Given the description of an element on the screen output the (x, y) to click on. 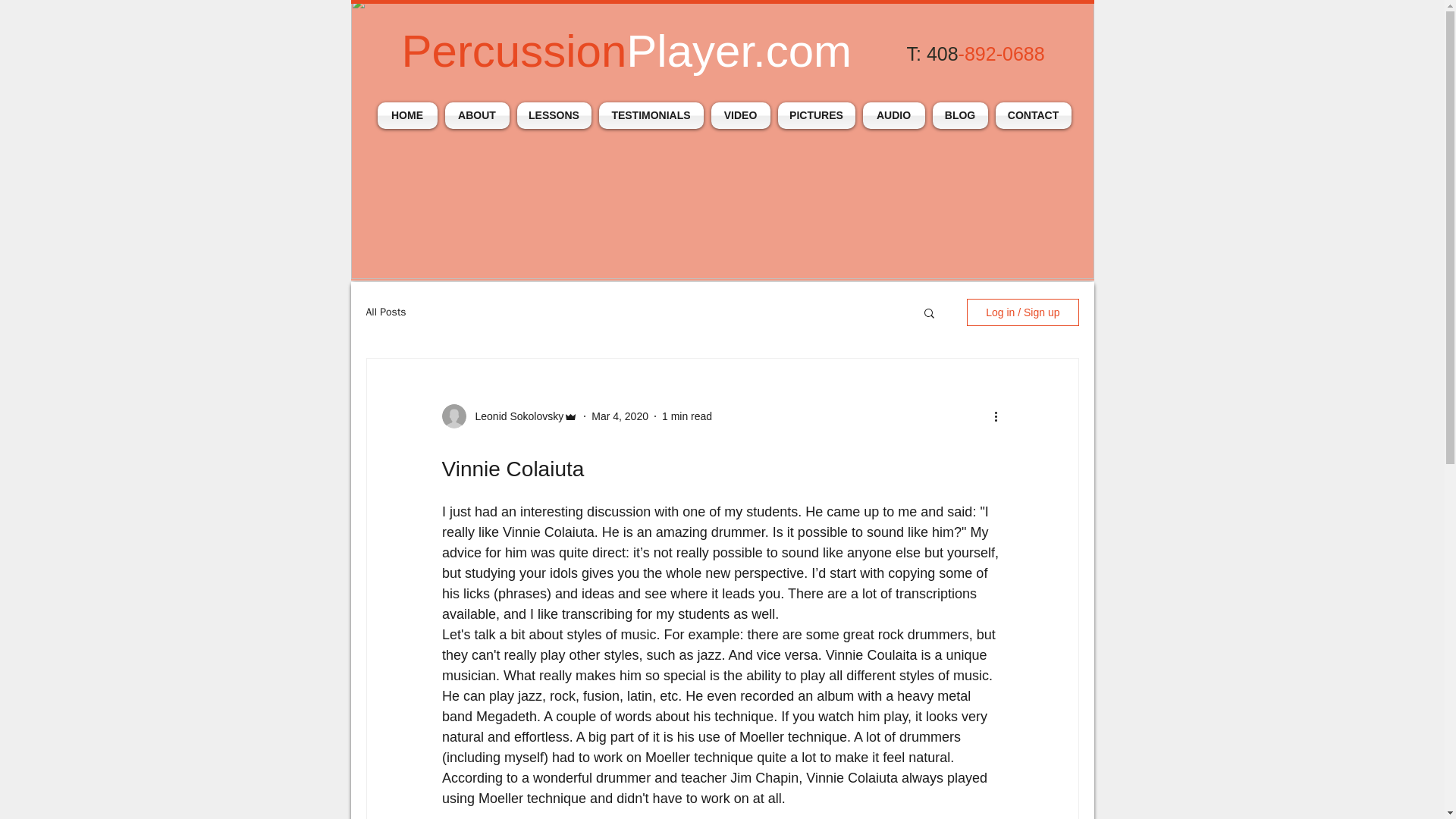
HOME (409, 115)
AUDIO (893, 115)
LESSONS (553, 115)
ABOUT (477, 115)
1 min read (686, 415)
VIDEO (739, 115)
Mar 4, 2020 (619, 415)
TESTIMONIALS (650, 115)
Leonid Sokolovsky (514, 415)
CONTACT (1031, 115)
